Given the description of an element on the screen output the (x, y) to click on. 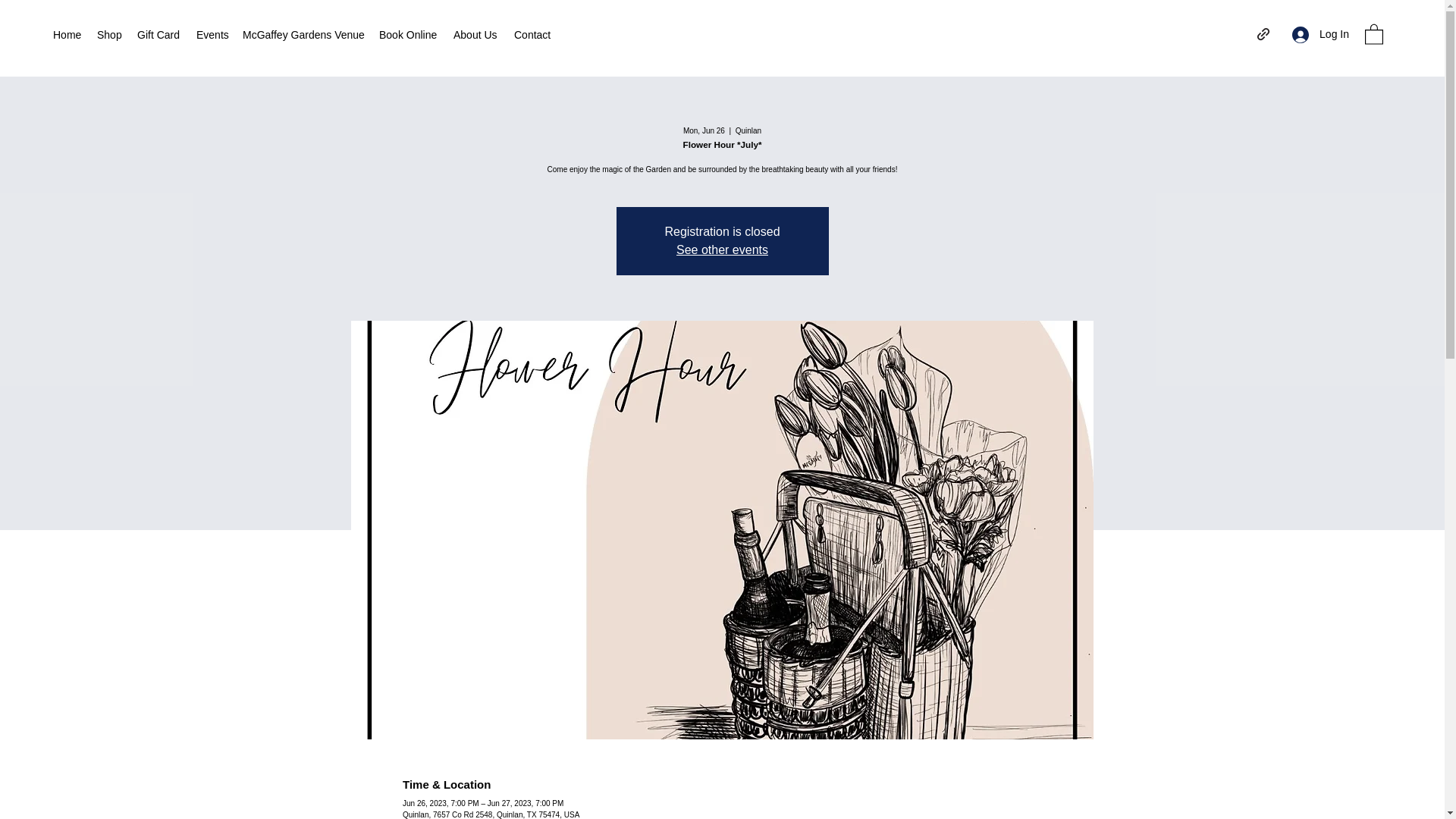
Home (66, 34)
Shop (108, 34)
Gift Card (159, 34)
See other events (722, 249)
Book Online (408, 34)
Events (211, 34)
Log In (1320, 34)
McGaffey Gardens Venue (302, 34)
Contact (532, 34)
About Us (475, 34)
